Given the description of an element on the screen output the (x, y) to click on. 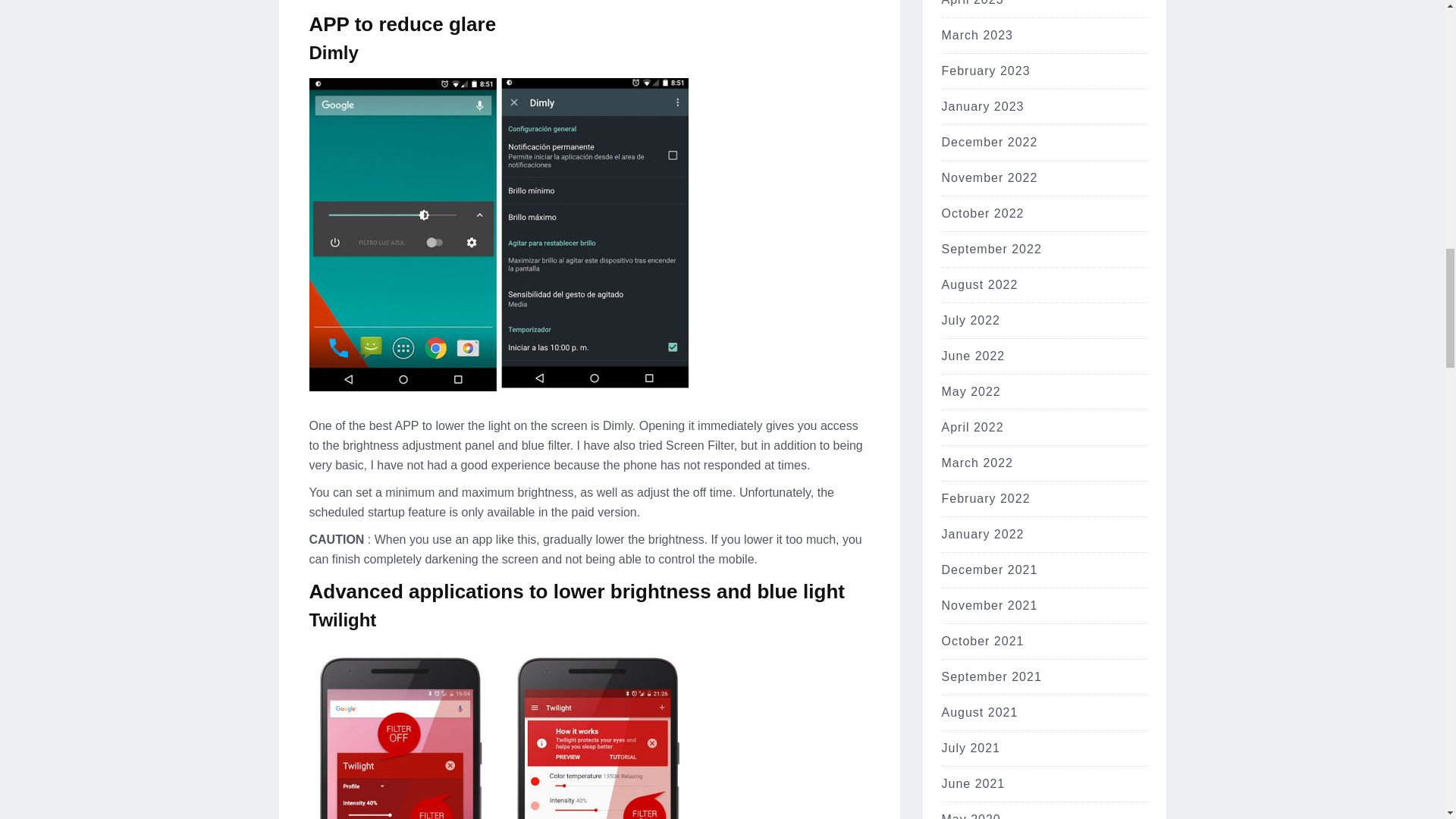
April 2023 (973, 2)
February 2023 (986, 70)
January 2023 (983, 106)
September 2022 (992, 248)
March 2023 (977, 34)
October 2022 (983, 213)
December 2022 (990, 141)
November 2022 (990, 177)
